Given the description of an element on the screen output the (x, y) to click on. 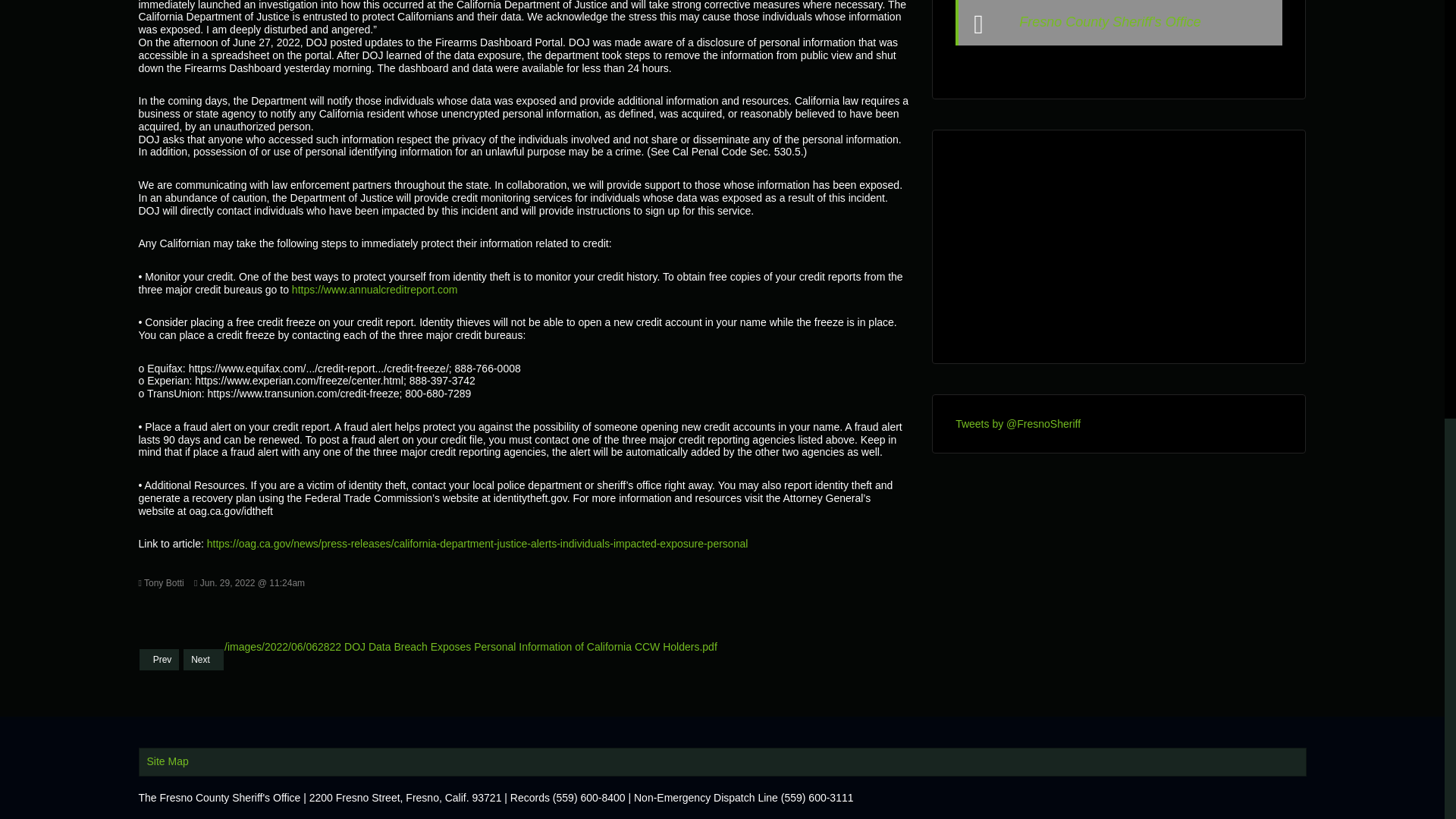
Published:  (248, 583)
Back to Top (1414, 3)
Written by:  (160, 583)
